Given the description of an element on the screen output the (x, y) to click on. 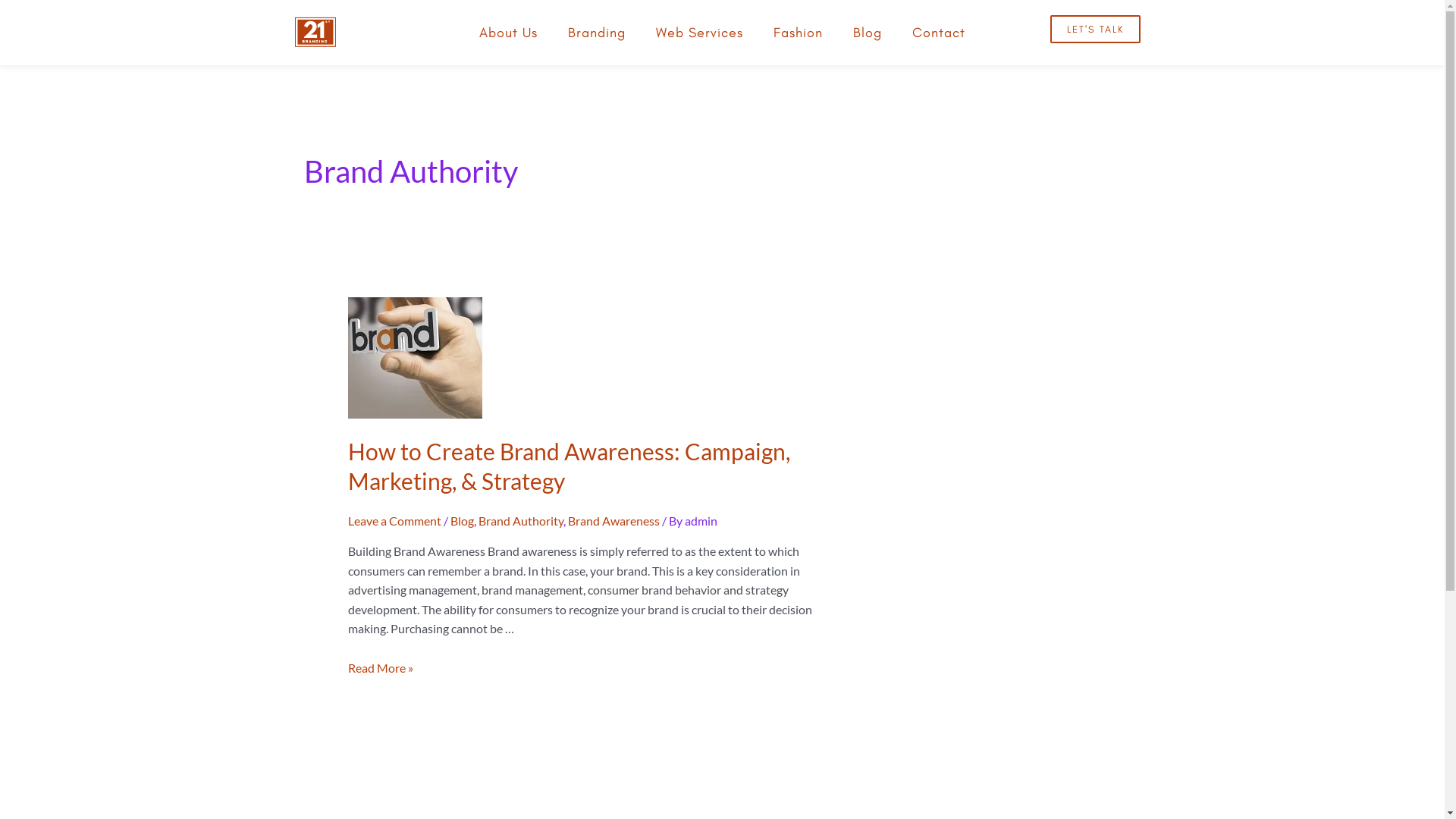
LET'S TALK Element type: text (1095, 29)
Fashion Element type: text (797, 32)
Blog Element type: text (867, 32)
Web Services Element type: text (699, 32)
Blog Element type: text (461, 520)
Brand Authority Element type: text (520, 520)
Branding Element type: text (596, 32)
Brand Awareness Element type: text (613, 520)
About Us Element type: text (508, 32)
Leave a Comment Element type: text (394, 520)
admin Element type: text (700, 520)
Contact Element type: text (938, 32)
